Given the description of an element on the screen output the (x, y) to click on. 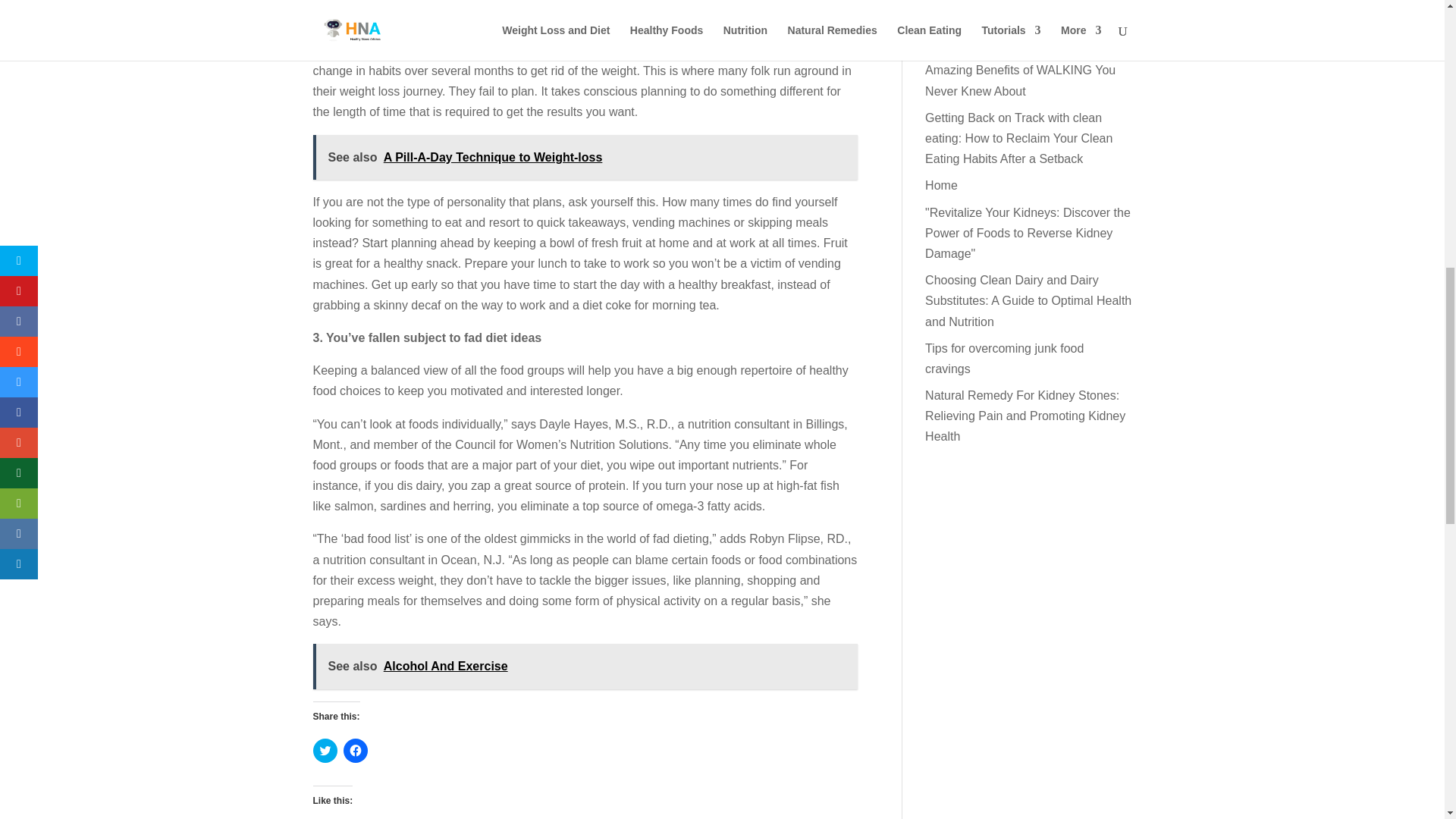
See also  A Pill-A-Day Technique to Weight-loss (585, 157)
See also  Alcohol And Exercise (585, 665)
Click to share on Twitter (324, 750)
Click to share on Facebook (354, 750)
Home (941, 185)
Amazing Benefits of WALKING You Never Knew About (1019, 80)
Tips for overcoming junk food cravings (1003, 358)
